Given the description of an element on the screen output the (x, y) to click on. 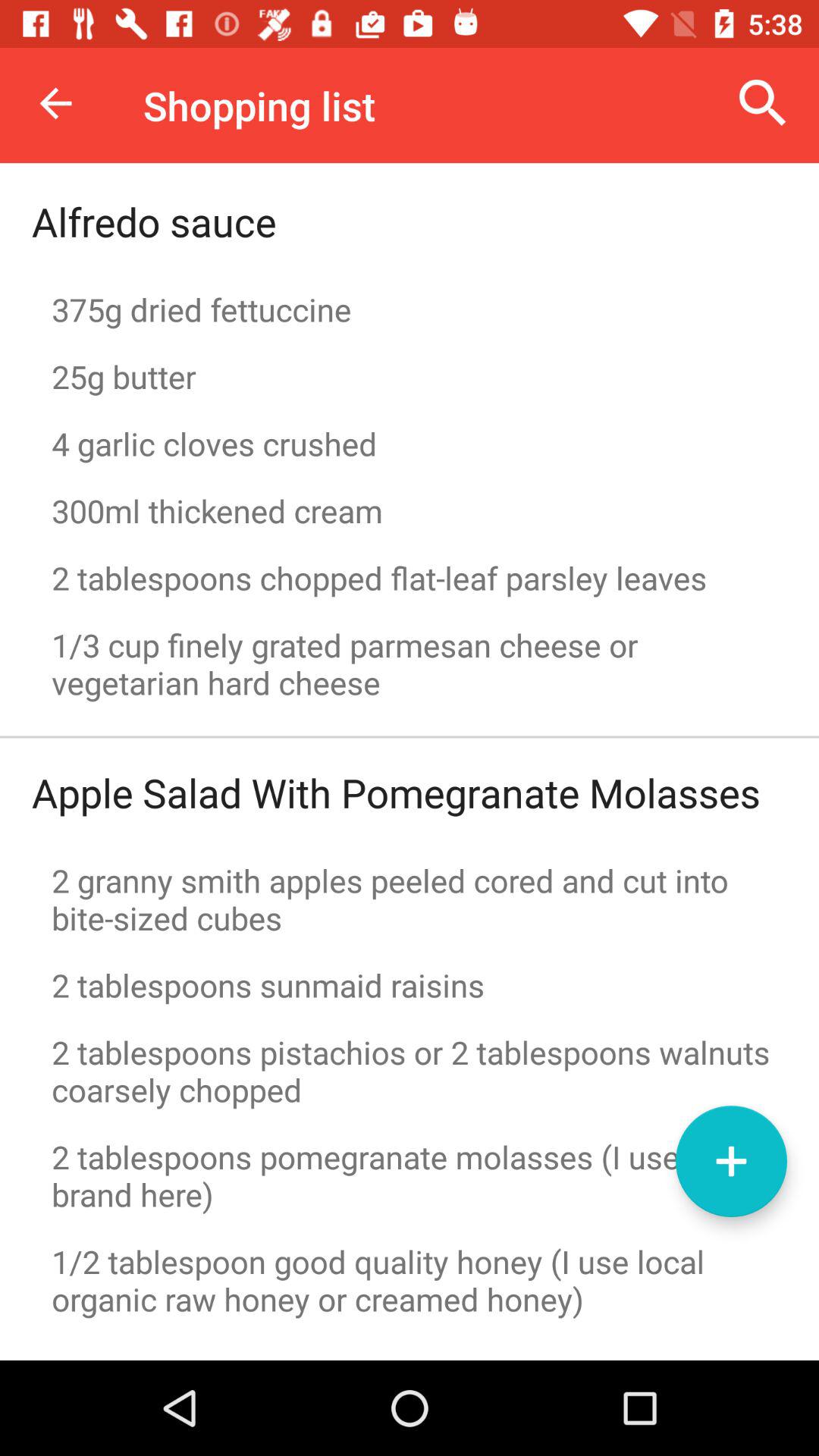
add something (731, 1161)
